Given the description of an element on the screen output the (x, y) to click on. 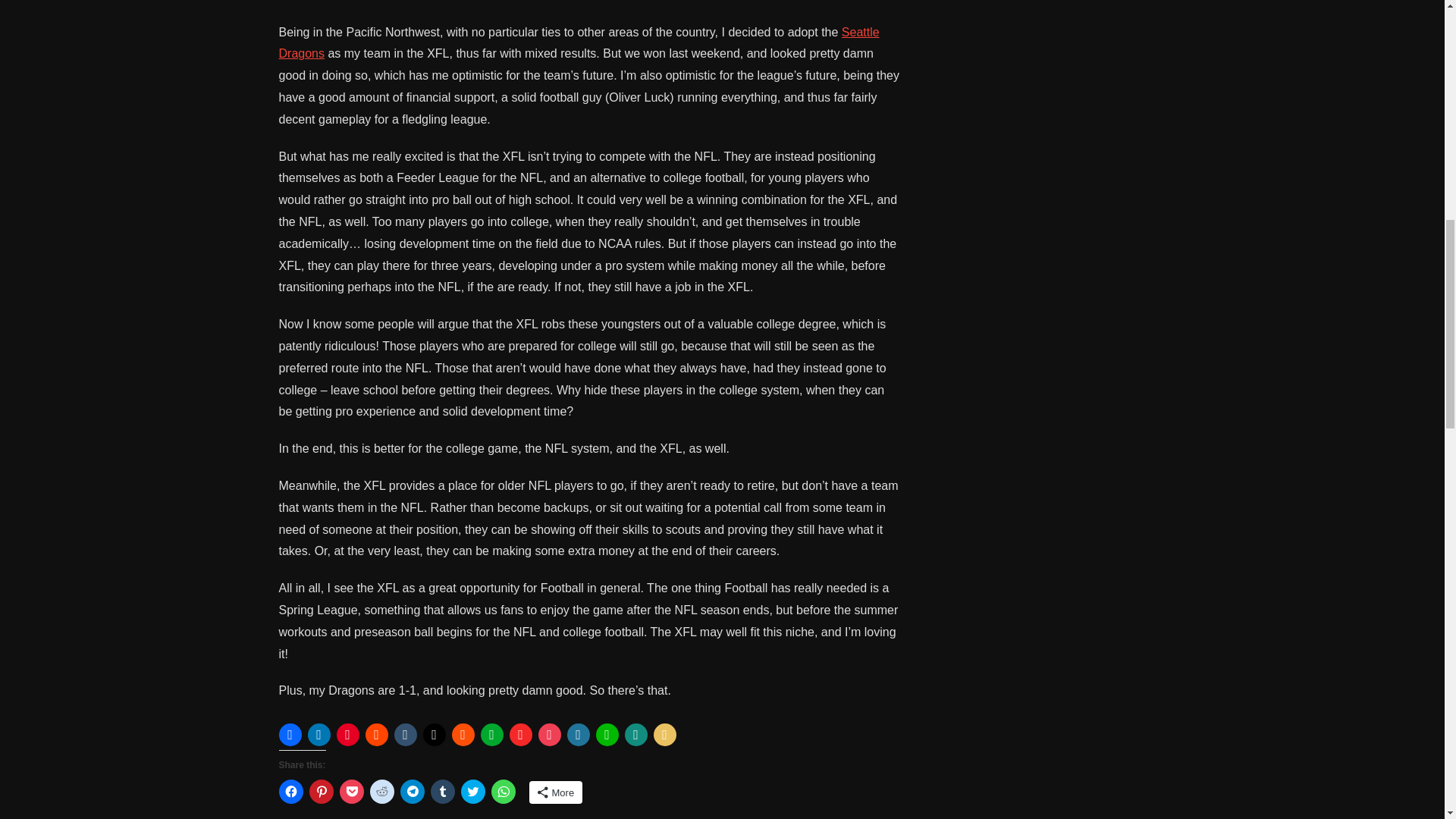
More (556, 792)
Click to share on Telegram (412, 791)
Seattle Dragons (579, 42)
Click to share on Pocket (351, 791)
Click to share on Facebook (290, 791)
Click to share on Twitter (472, 791)
Click to share on Tumblr (442, 791)
Click to share on Reddit (381, 791)
Click to share on WhatsApp (503, 791)
Click to share on Pinterest (320, 791)
